Given the description of an element on the screen output the (x, y) to click on. 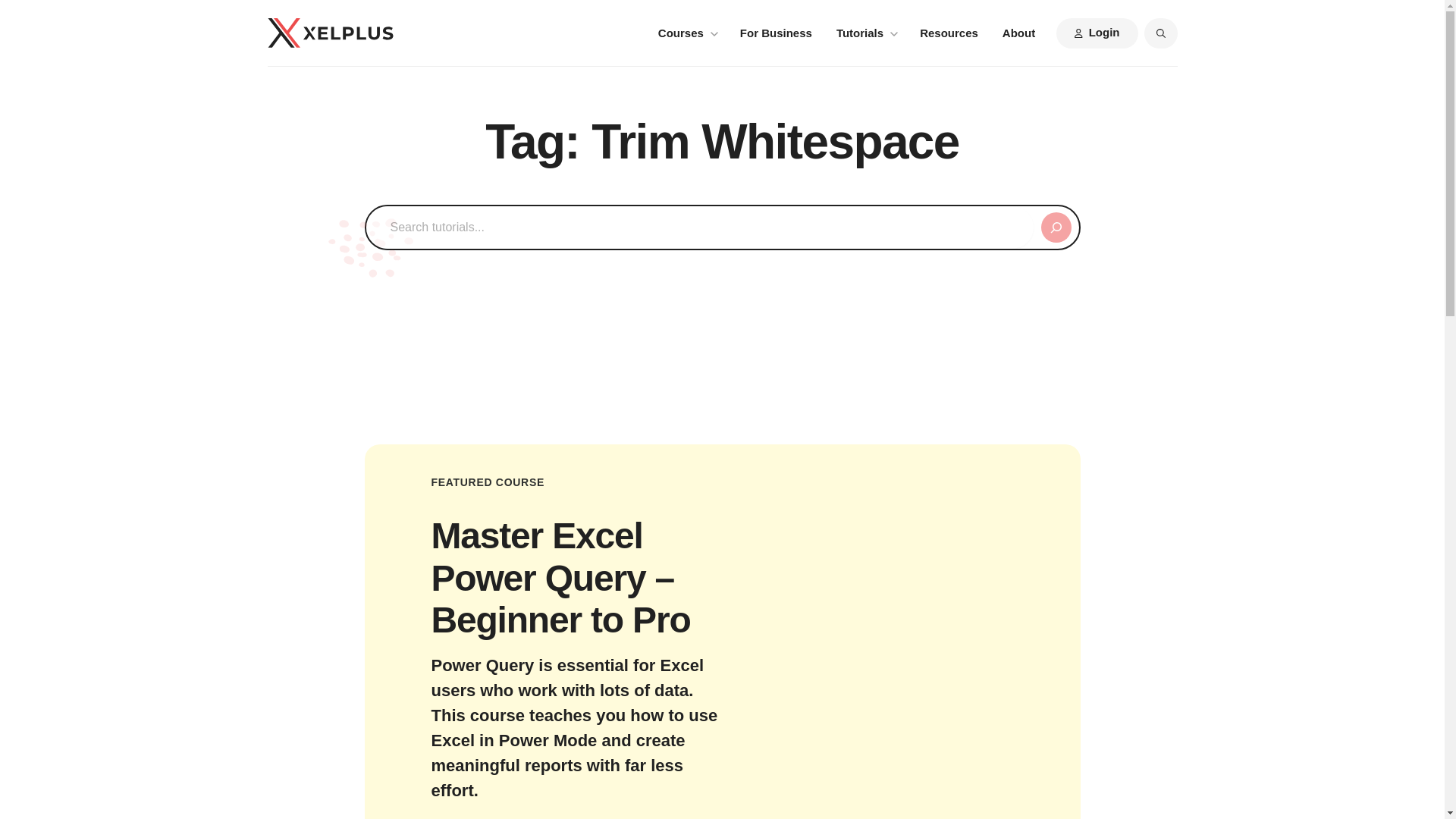
Tutorials (865, 33)
Courses (687, 33)
For Business (775, 33)
